Given the description of an element on the screen output the (x, y) to click on. 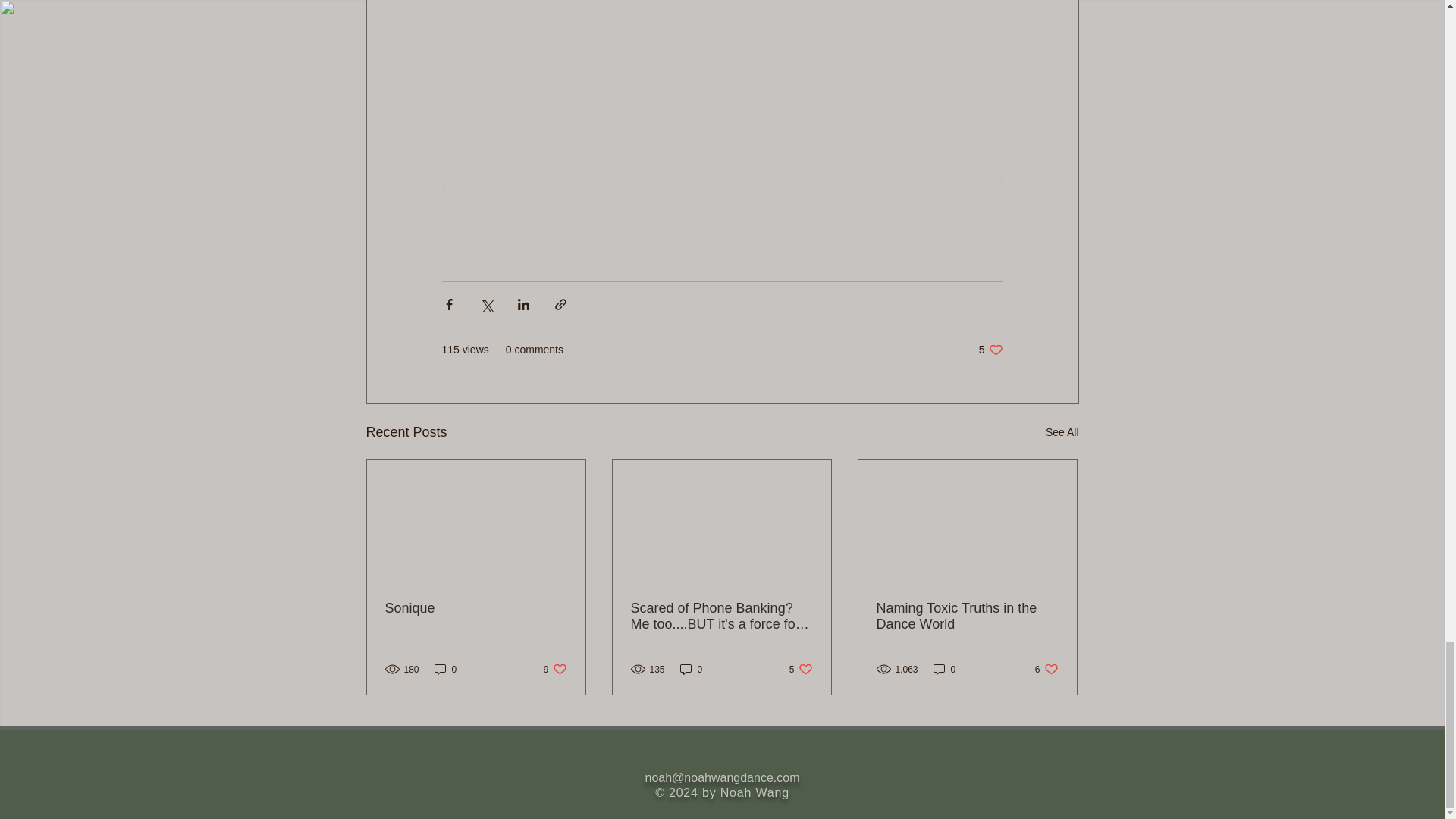
0 (691, 668)
0 (944, 668)
0 (800, 668)
Naming Toxic Truths in the Dance World (990, 350)
Sonique (445, 668)
See All (967, 616)
